Given the description of an element on the screen output the (x, y) to click on. 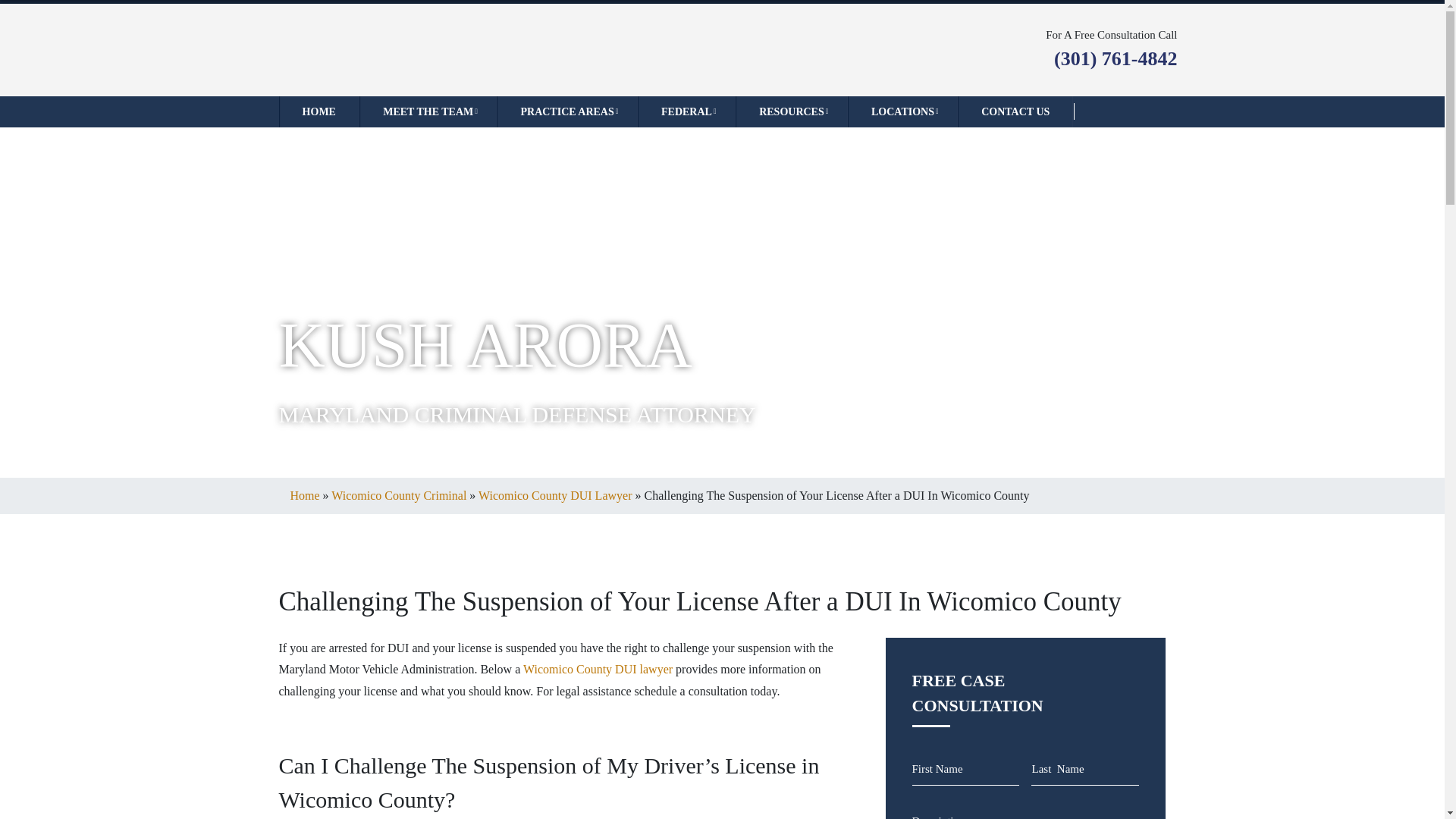
Kush Arora Attorney At Law (410, 47)
MEET THE TEAM (427, 110)
LOCATIONS (902, 110)
PRACTICE AREAS (566, 110)
FEDERAL (686, 110)
RESOURCES (791, 110)
HOME (319, 110)
